Given the description of an element on the screen output the (x, y) to click on. 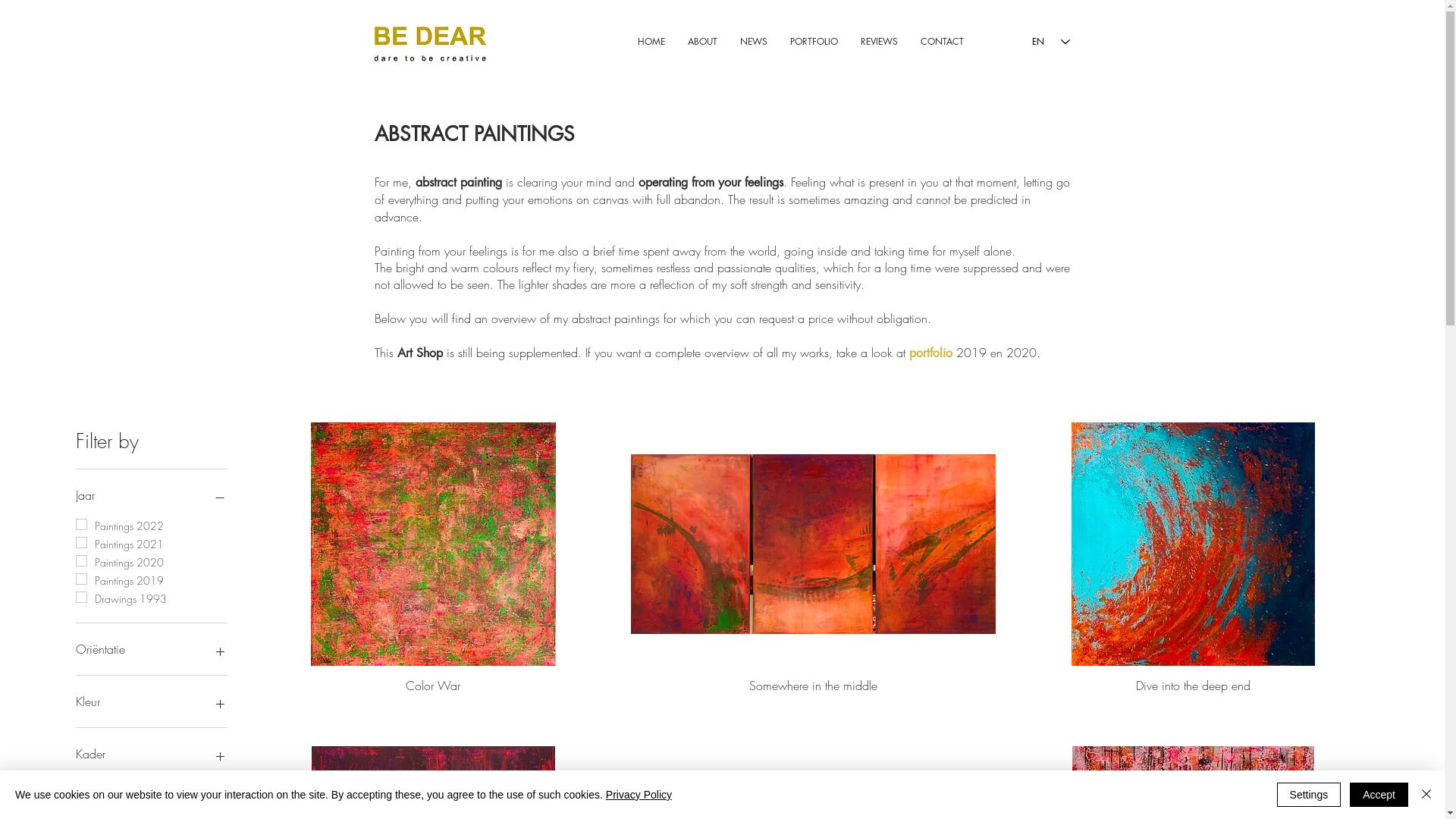
Kleur Element type: text (151, 701)
ABOUT Element type: text (702, 41)
Kader Element type: text (151, 753)
Accept Element type: text (1378, 794)
portfolio Element type: text (929, 352)
HOME Element type: text (651, 41)
REVIEWS Element type: text (879, 41)
Settings Element type: text (1309, 794)
NEWS Element type: text (753, 41)
Somewhere in the middle Element type: text (812, 685)
Color War Element type: text (432, 685)
Dive into the deep end Element type: text (1192, 685)
Jaar Element type: text (151, 494)
Privacy Policy Element type: text (638, 794)
PORTFOLIO Element type: text (813, 41)
CONTACT Element type: text (941, 41)
